Given the description of an element on the screen output the (x, y) to click on. 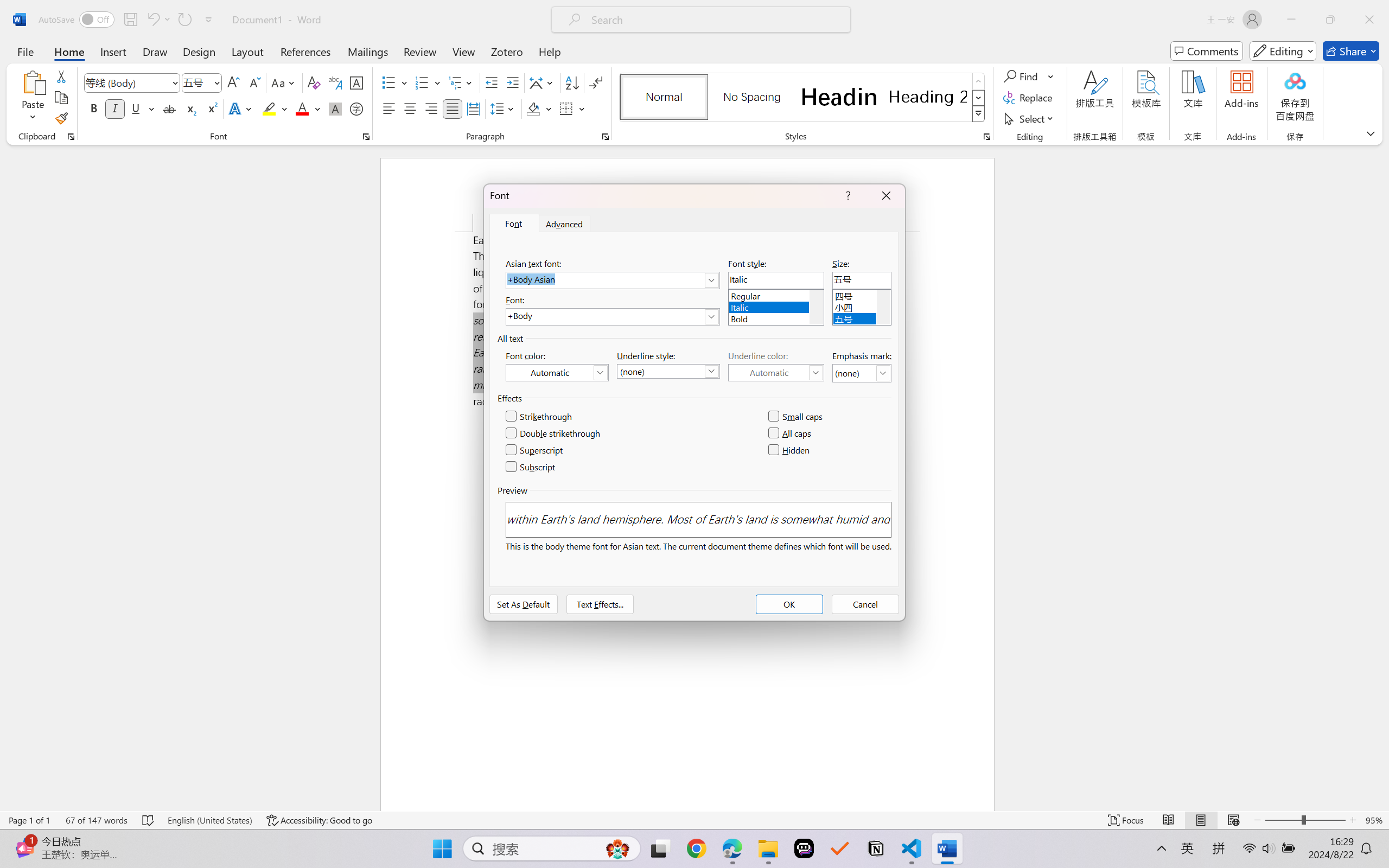
Character Border (356, 82)
Center (409, 108)
Font... (365, 136)
Size: (861, 280)
Underline Color (Automatic) (775, 372)
Show/Hide Editing Marks (595, 82)
